Given the description of an element on the screen output the (x, y) to click on. 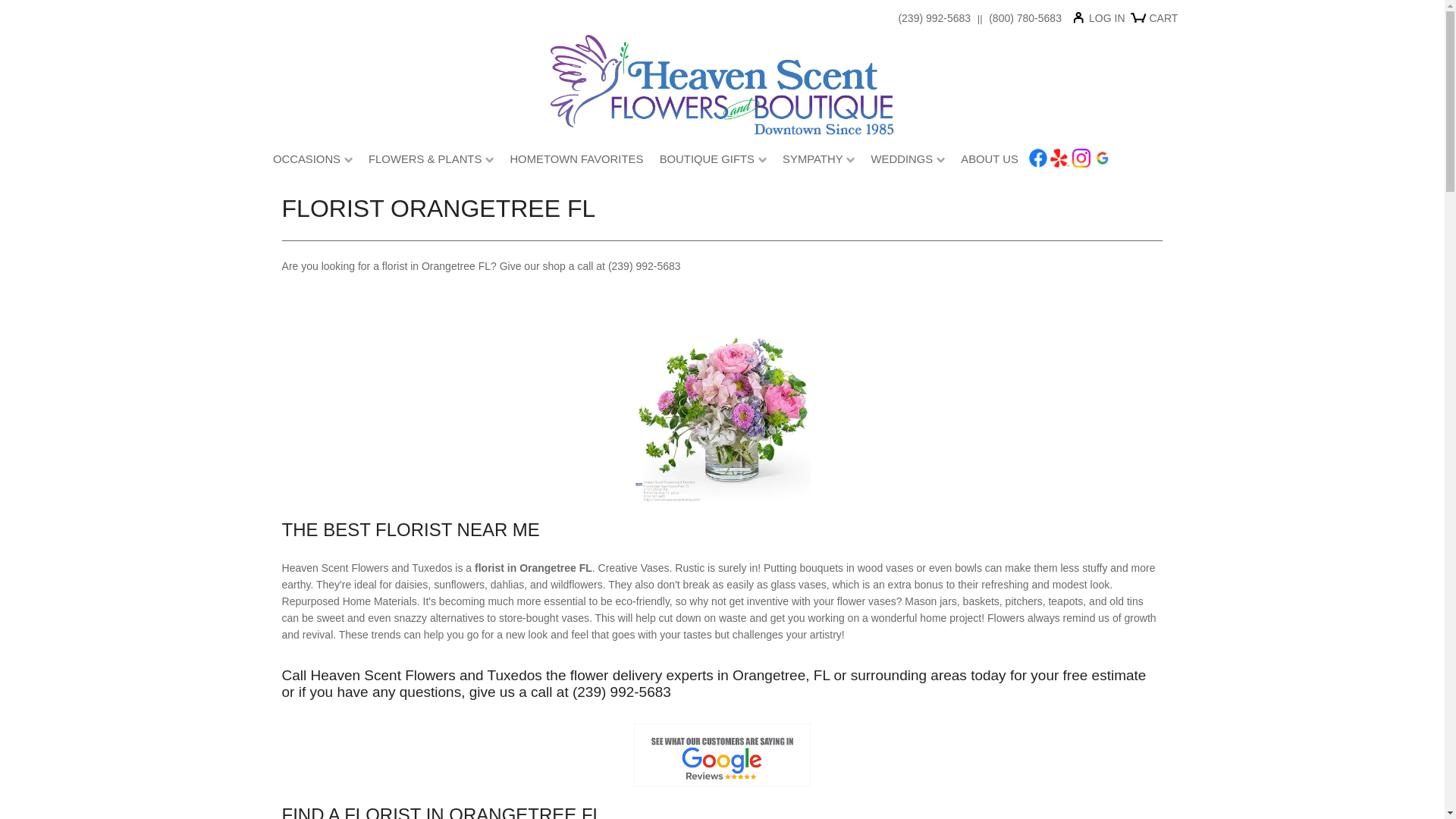
HOMETOWN FAVORITES (576, 161)
OCCASIONS (312, 161)
log In (1103, 21)
BOUTIQUE GIFTS (712, 161)
CART (1156, 23)
LOG IN (1103, 21)
